Given the description of an element on the screen output the (x, y) to click on. 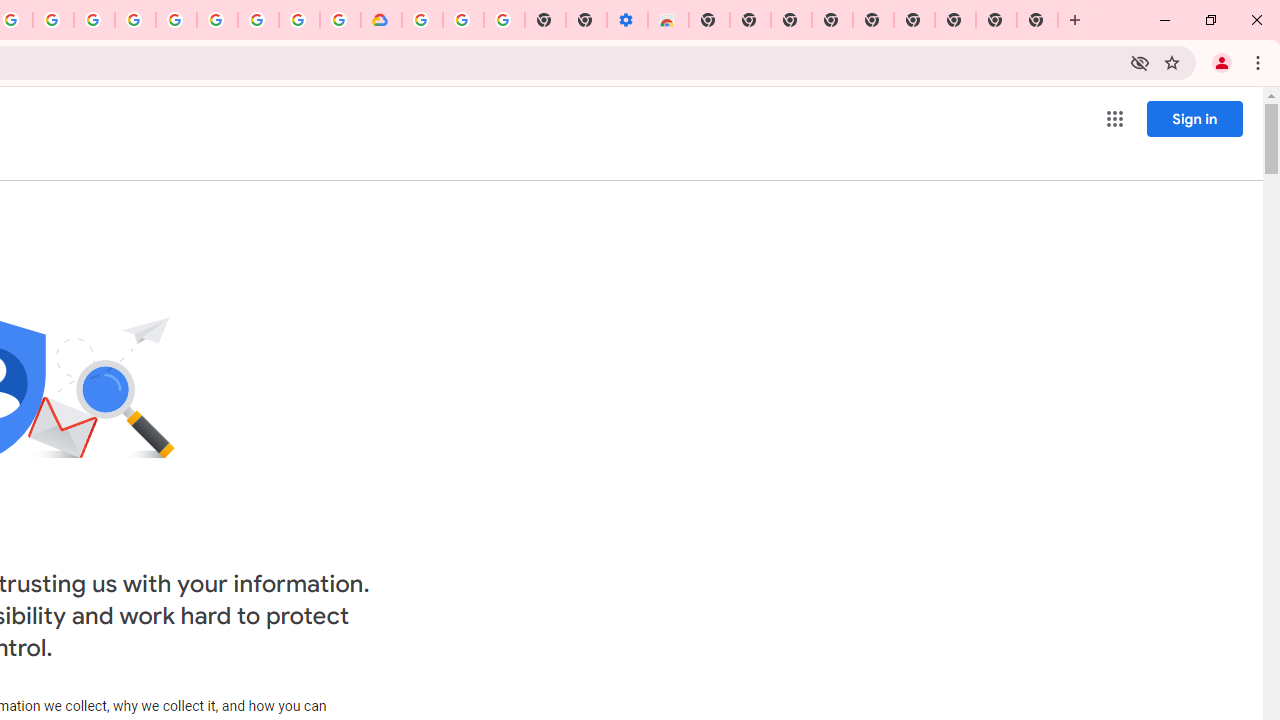
New Tab (708, 20)
Google Account Help (217, 20)
Google Account Help (462, 20)
Settings - Accessibility (626, 20)
